Given the description of an element on the screen output the (x, y) to click on. 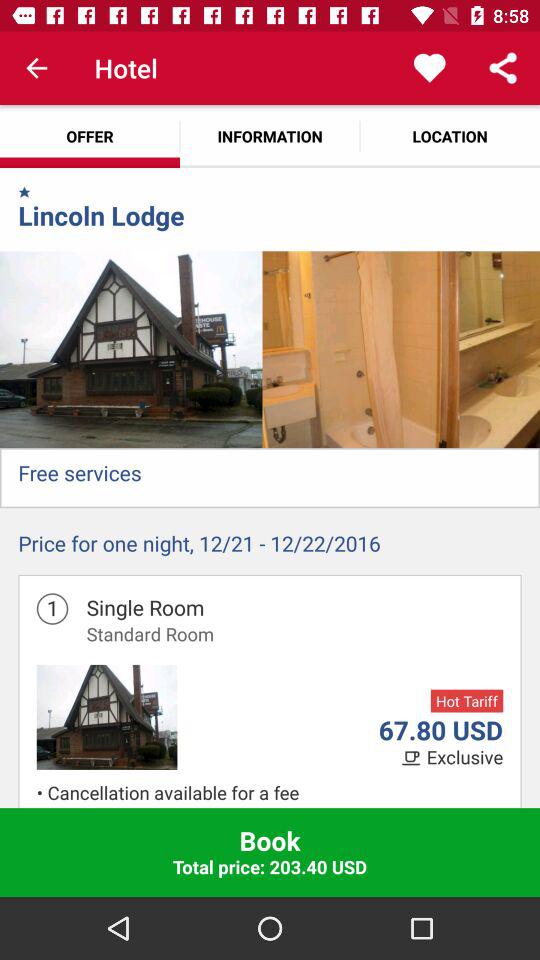
select item above book (275, 806)
